Given the description of an element on the screen output the (x, y) to click on. 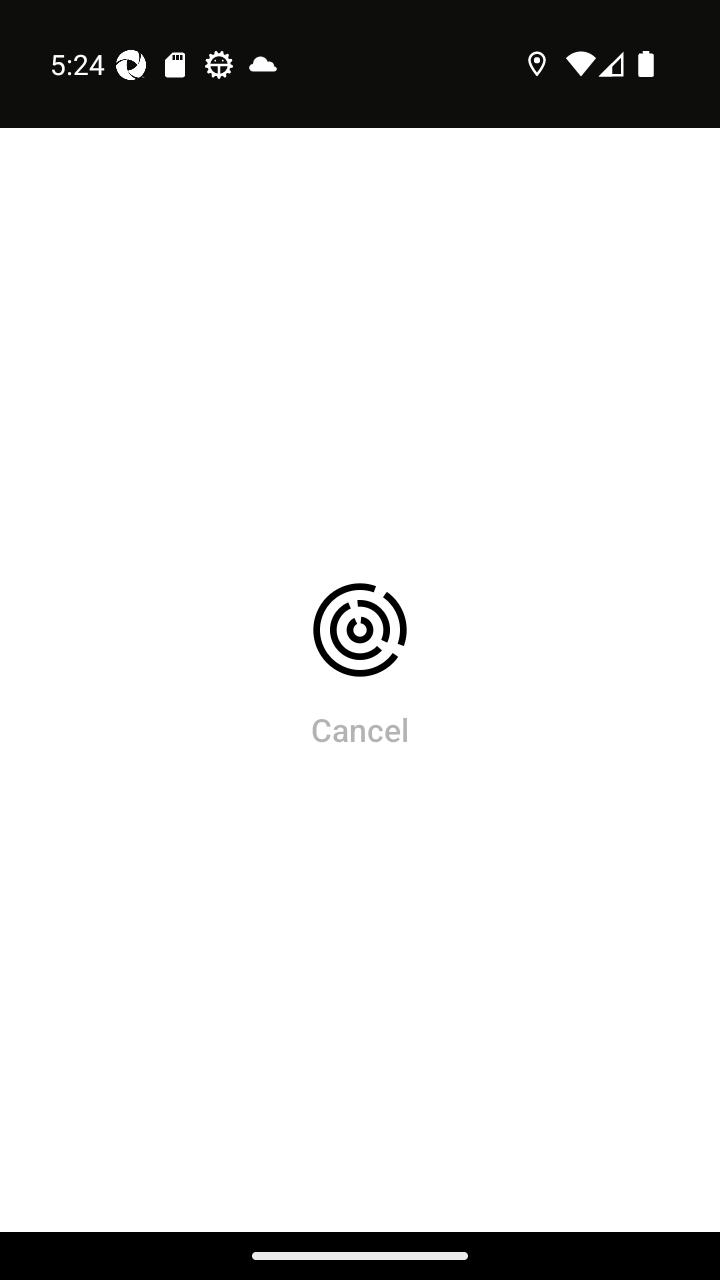
Cancel (360, 729)
